Given the description of an element on the screen output the (x, y) to click on. 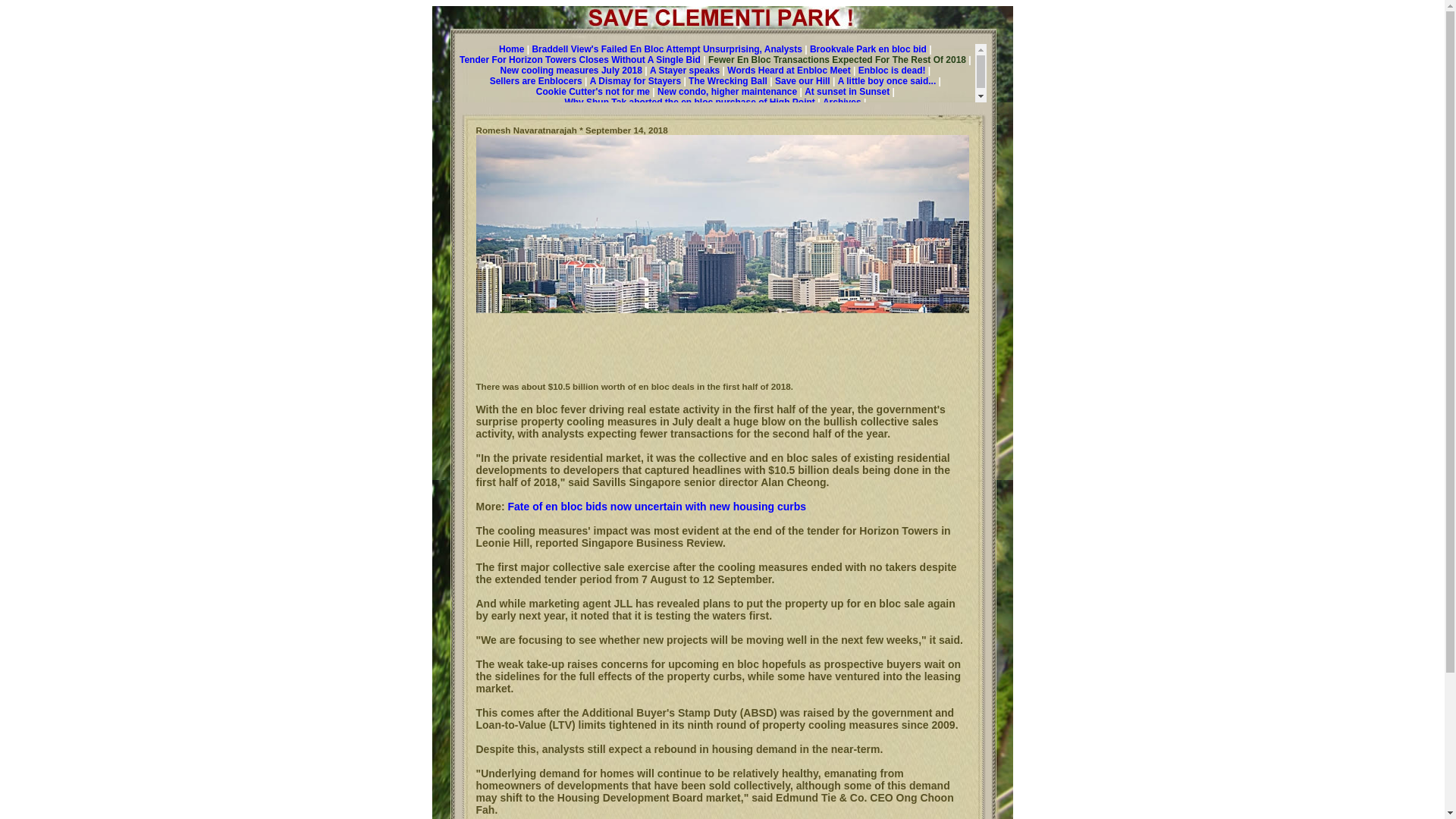
Words Heard at Enbloc Meet (788, 70)
Home (511, 49)
Enbloc is dead! (892, 70)
A little boy once said... (887, 81)
At sunset in Sunset (847, 91)
A Stayer speaks (684, 70)
A Dismay for Stayers (635, 81)
Fewer En Bloc Transactions Expected For The Rest Of 2018 (836, 59)
New condo, higher maintenance (727, 91)
